Given the description of an element on the screen output the (x, y) to click on. 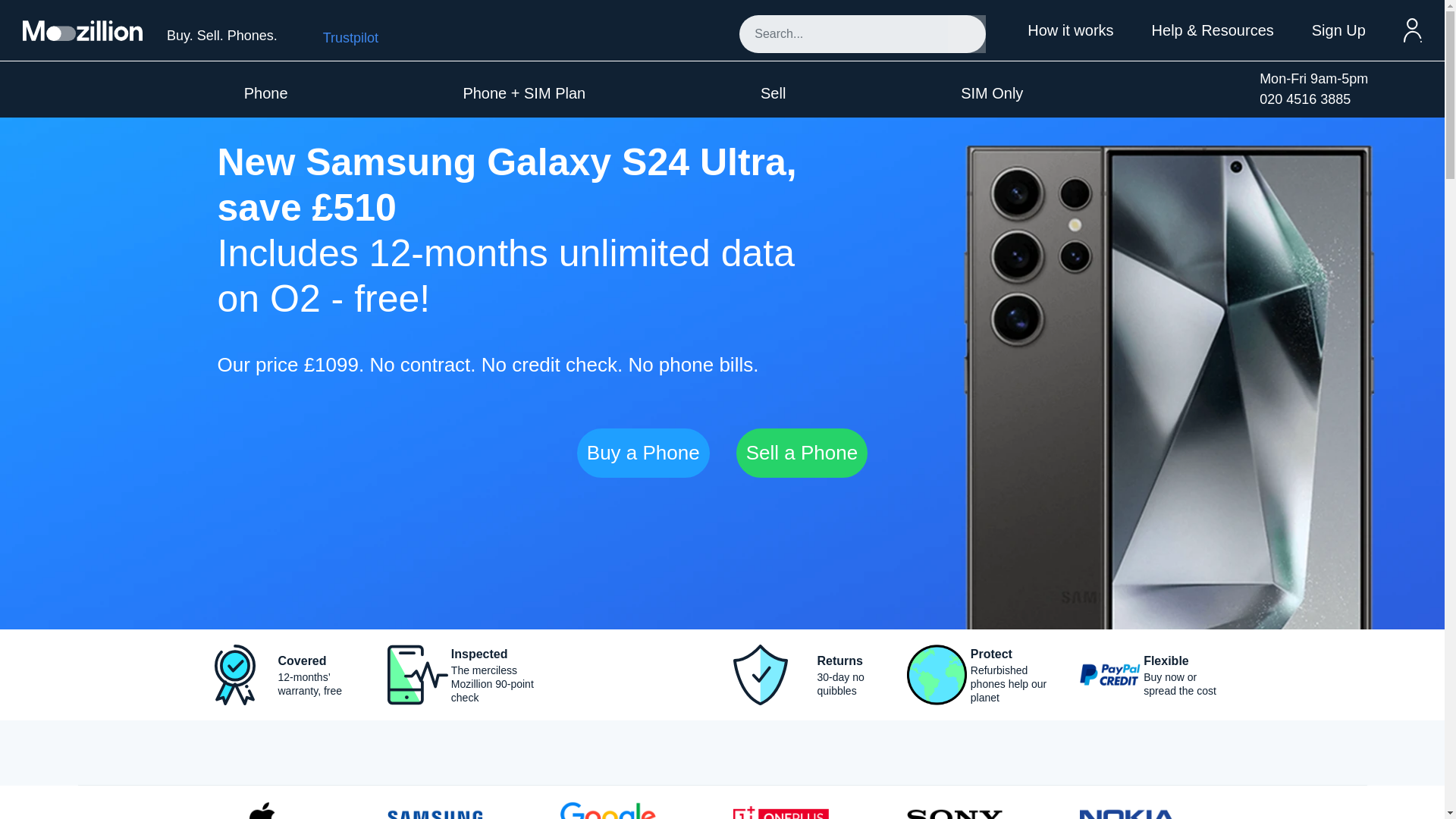
Trustpilot (350, 37)
How it works (1070, 30)
Phone (265, 92)
